Given the description of an element on the screen output the (x, y) to click on. 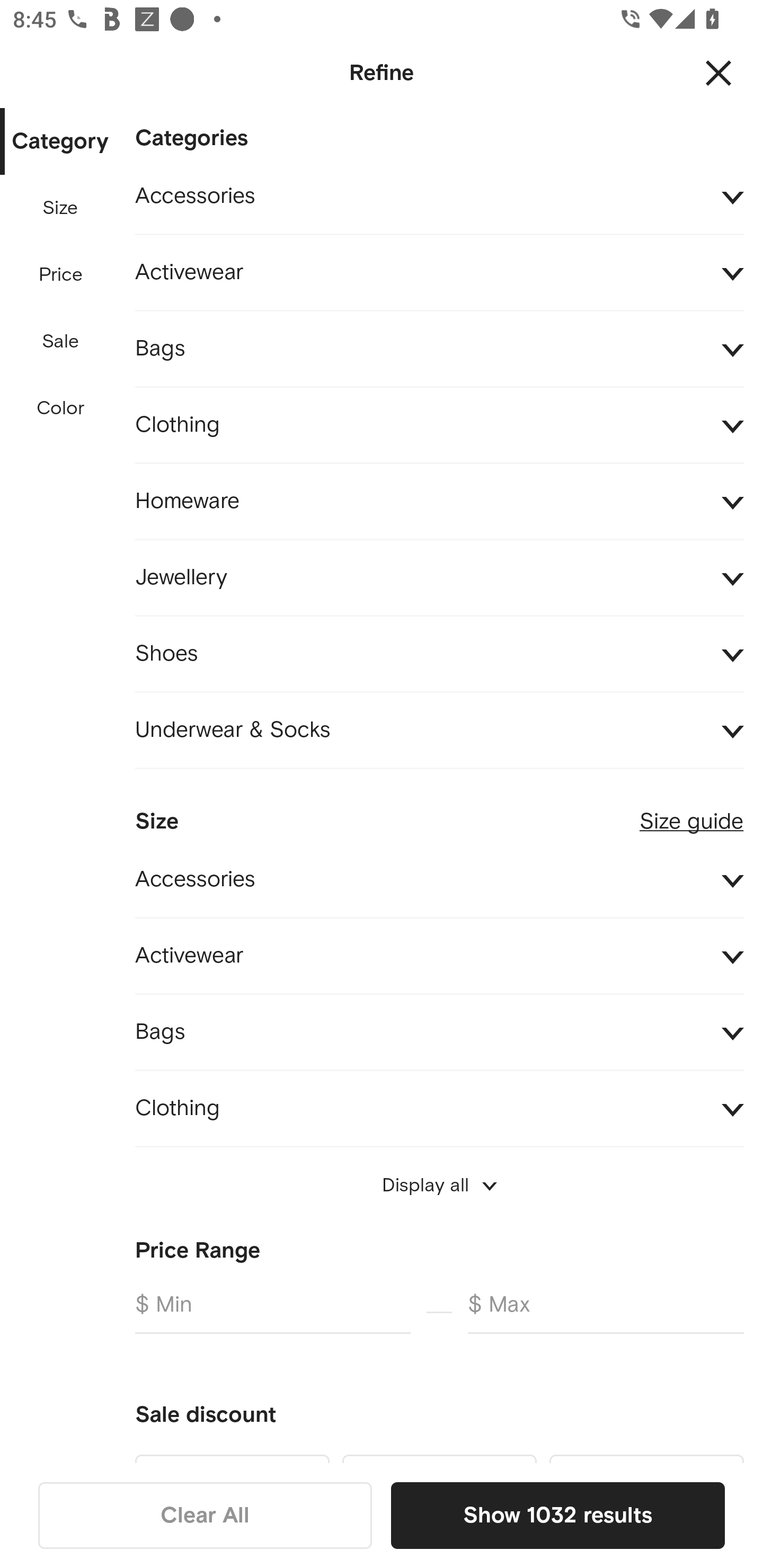
Category (60, 141)
Accessories (439, 196)
Size (60, 208)
Activewear (439, 272)
Price (60, 274)
Sale (60, 342)
Bags (439, 348)
Color (60, 408)
Clothing (439, 425)
Homeware (439, 501)
Jewellery (439, 577)
Shoes (439, 654)
Underwear & Socks (439, 730)
Size guide (691, 814)
Accessories (439, 879)
Activewear (439, 955)
Bags (439, 1032)
Clothing (439, 1108)
Display all (439, 1185)
$ Min (272, 1311)
$ Max (605, 1311)
Clear All (205, 1515)
Show 1032 results (557, 1515)
